Given the description of an element on the screen output the (x, y) to click on. 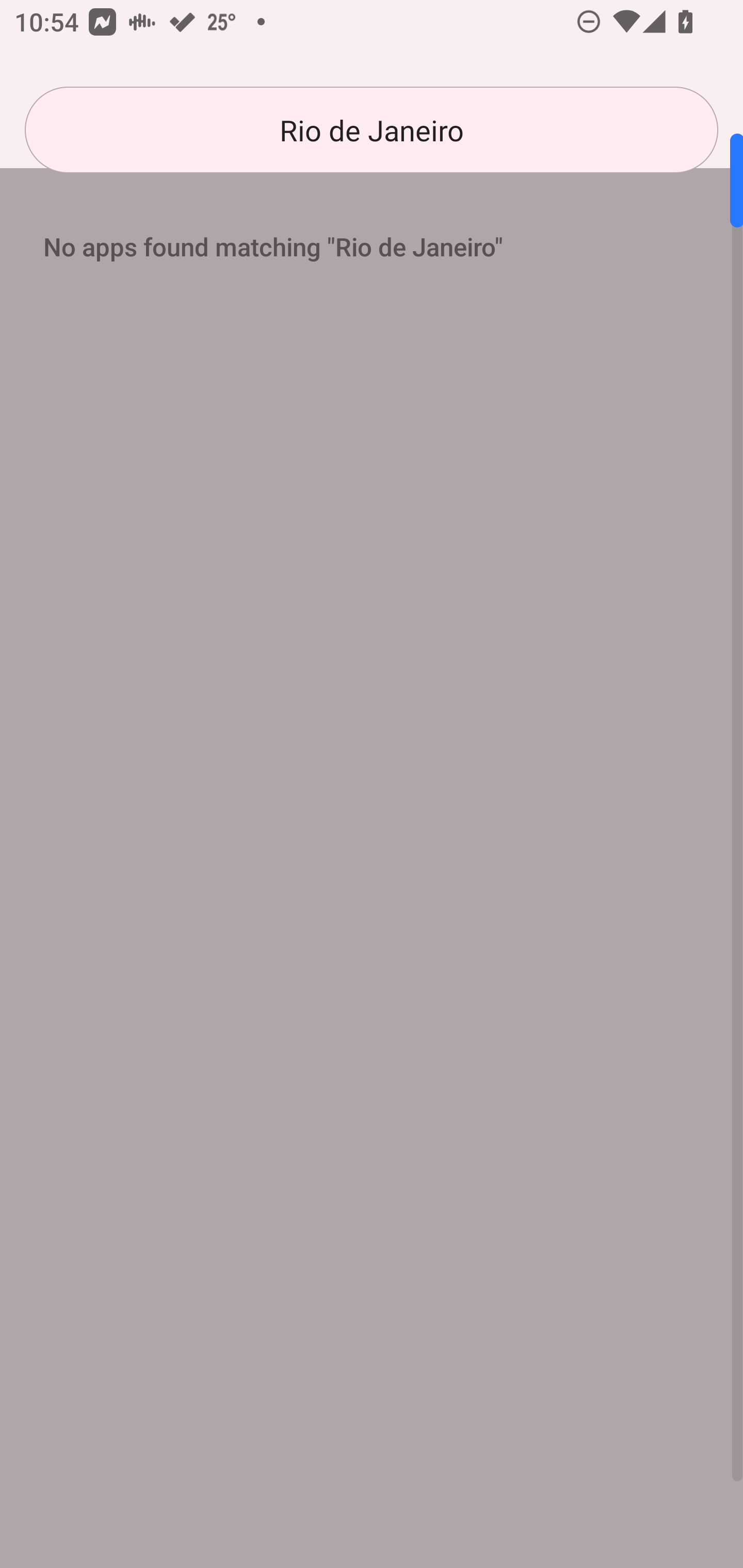
Rio de Janeiro (371, 130)
